Given the description of an element on the screen output the (x, y) to click on. 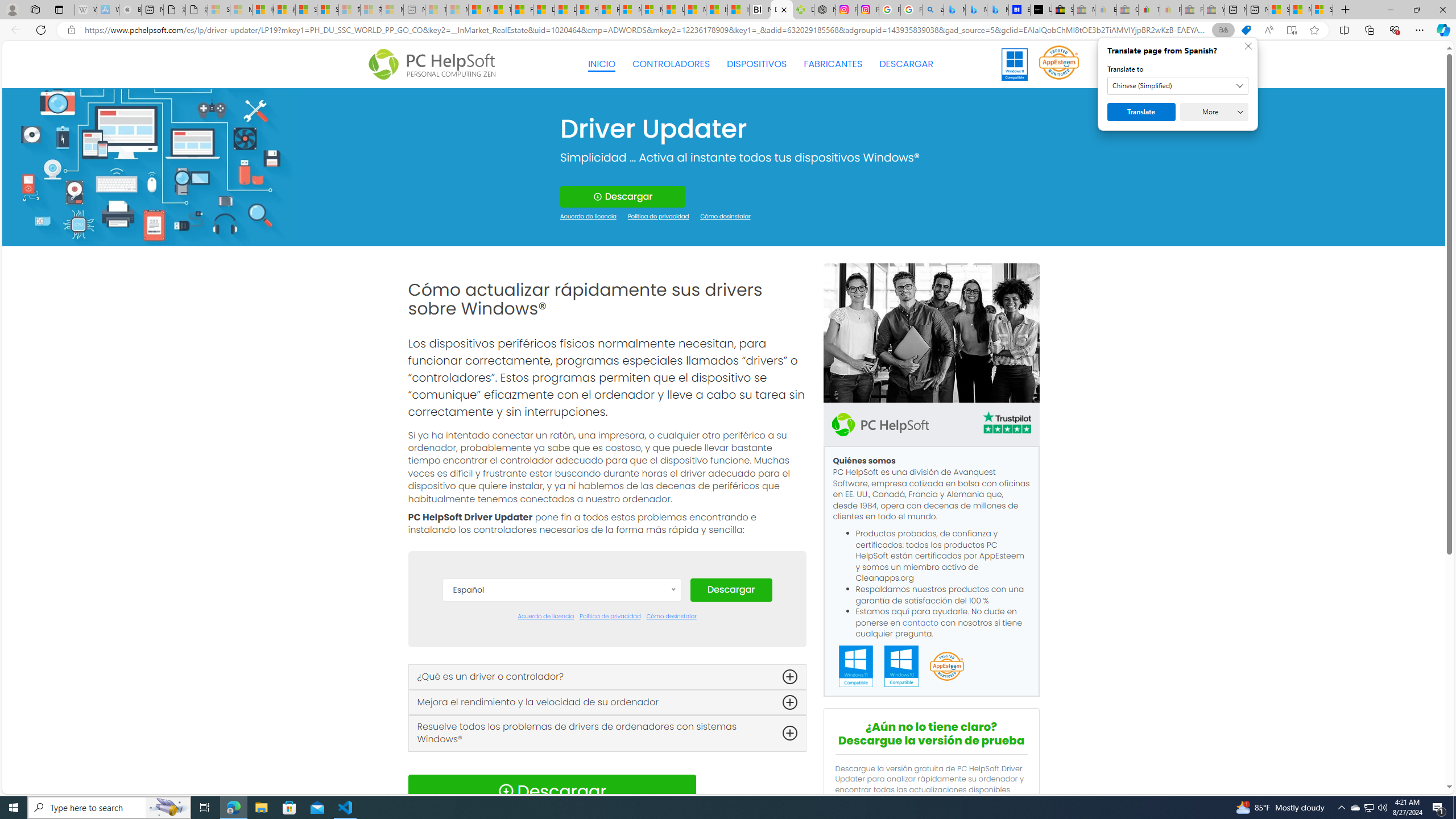
DISPOSITIVOS (756, 64)
Microsoft Bing Travel - Shangri-La Hotel Bangkok (997, 9)
Italiano (561, 746)
Nvidia va a poner a prueba la paciencia de los inversores (760, 9)
team (930, 332)
Marine life - MSN - Sleeping (457, 9)
More (1213, 112)
Microsoft Services Agreement - Sleeping (241, 9)
Norsk (561, 780)
Windows 11 (1014, 64)
alabama high school quarterback dies - Search (933, 9)
